Given the description of an element on the screen output the (x, y) to click on. 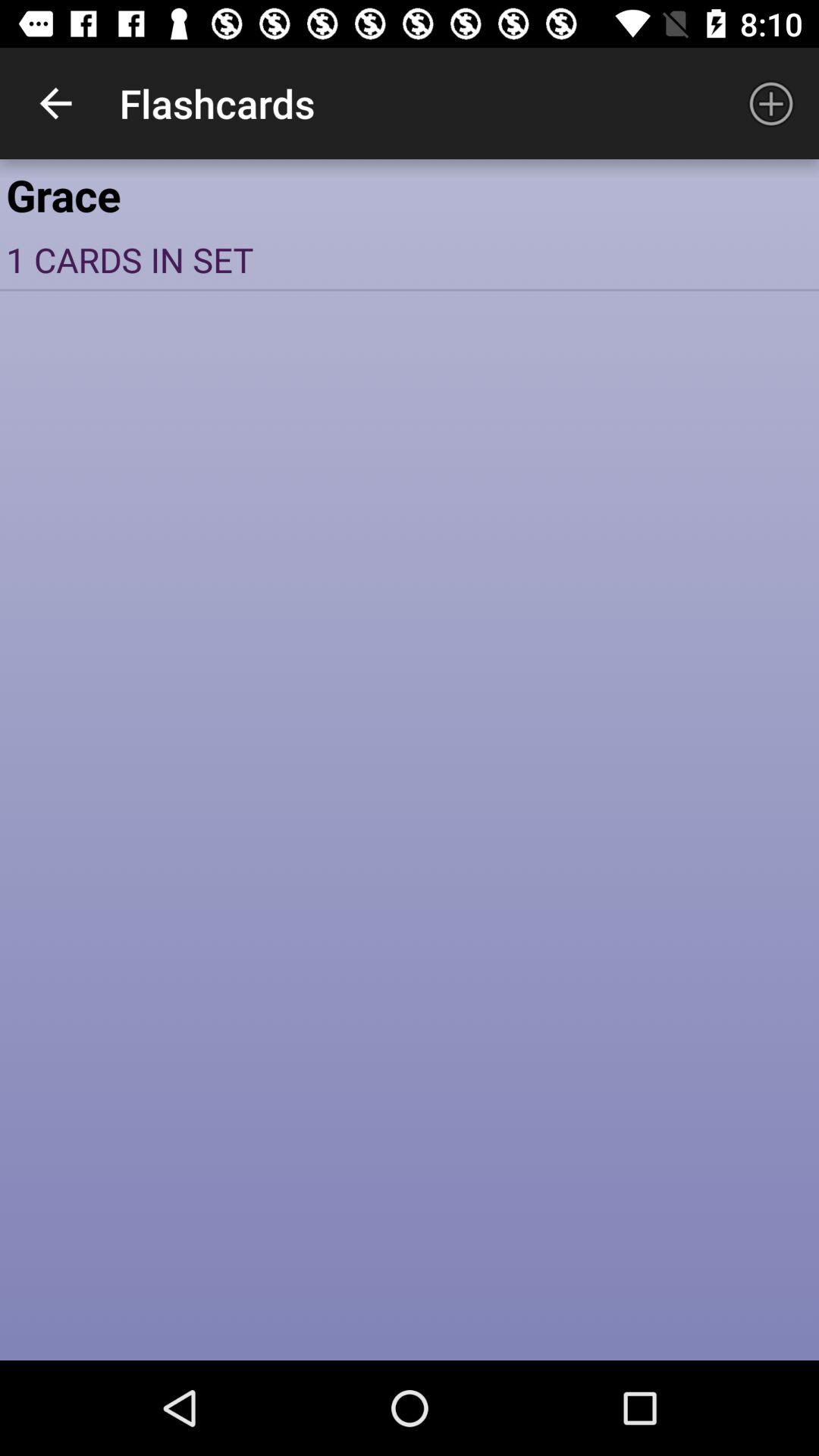
launch the 1 cards in item (409, 259)
